Given the description of an element on the screen output the (x, y) to click on. 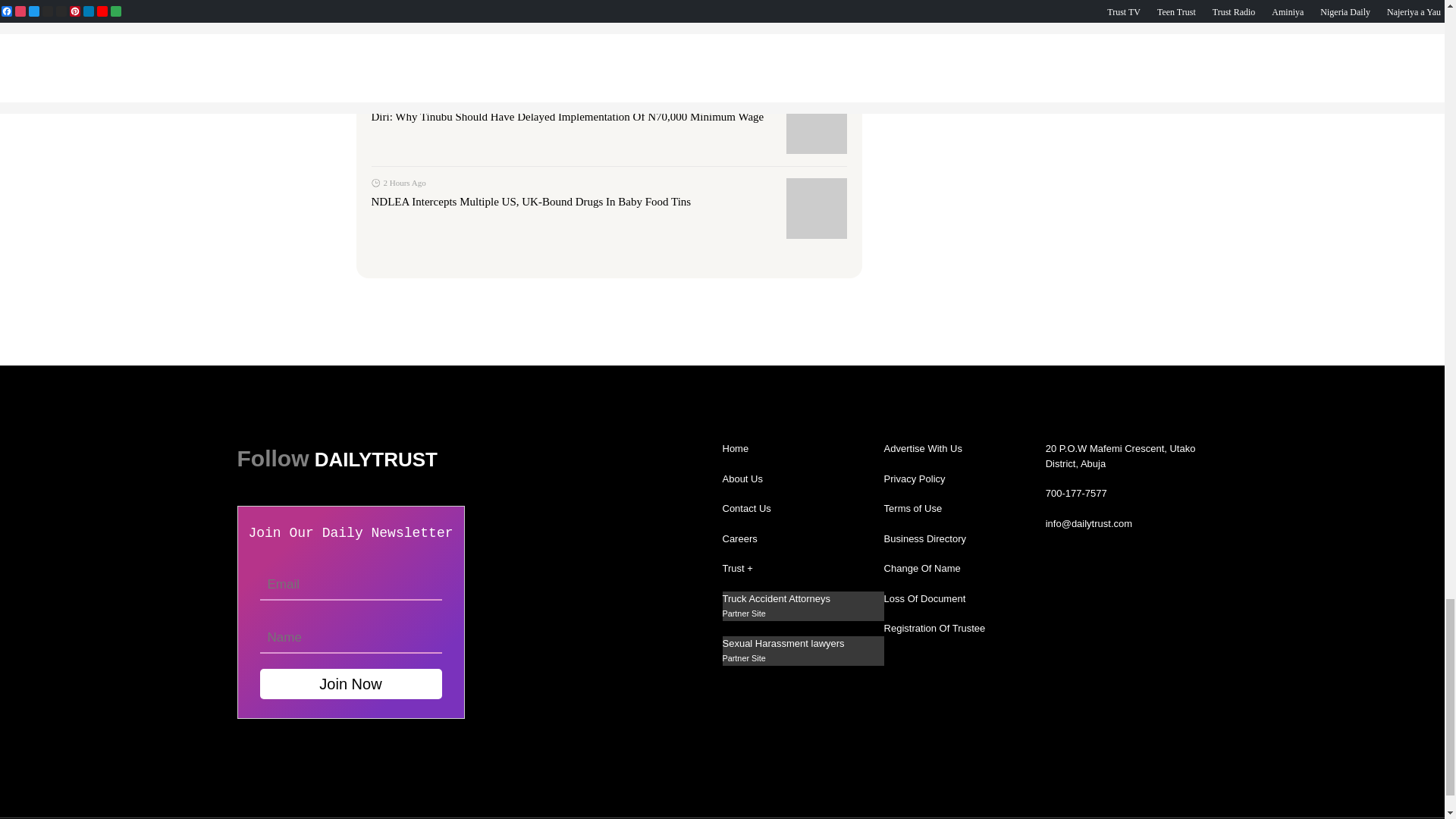
Join Now (350, 684)
